Given the description of an element on the screen output the (x, y) to click on. 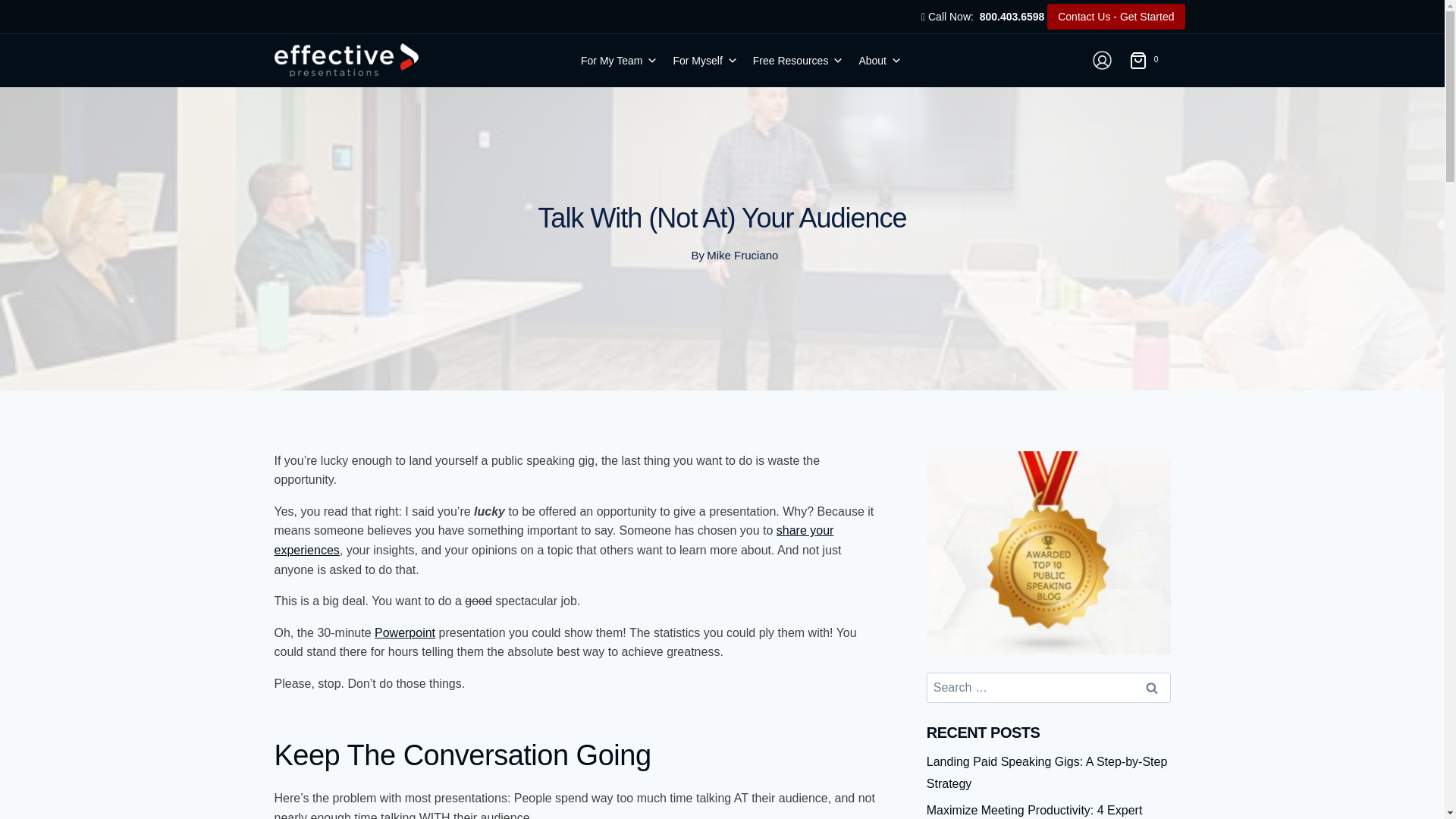
For My Team (619, 60)
For Myself (704, 60)
Contact Us - Get Started (1115, 16)
Search (1151, 687)
Search (1151, 687)
